Given the description of an element on the screen output the (x, y) to click on. 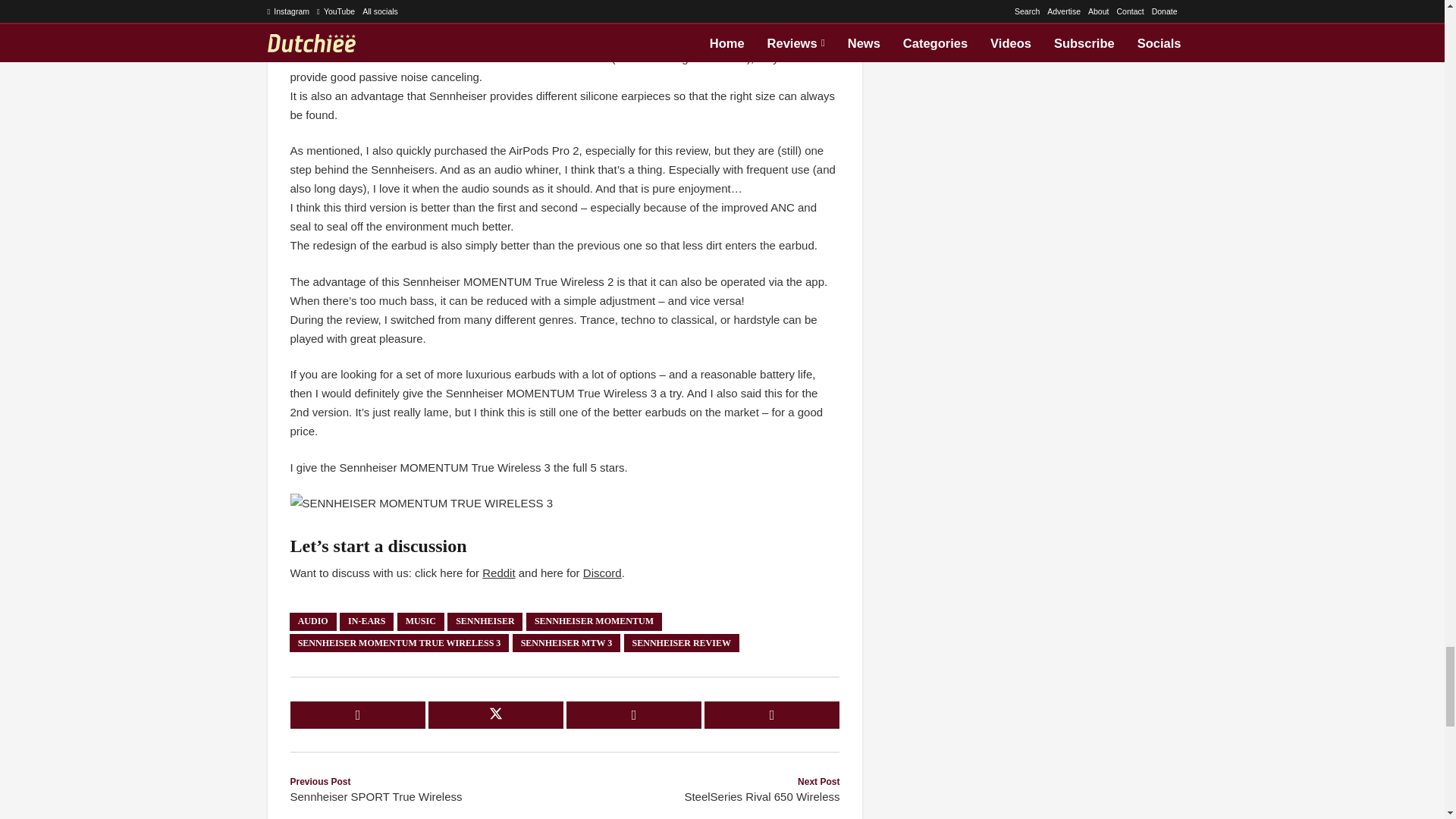
Pin this (633, 714)
Share this (772, 714)
Sennheiser SPORT True Wireless (426, 789)
Share this (357, 714)
Tweet this (495, 714)
SteelSeries Rival 650 Wireless (702, 789)
